Given the description of an element on the screen output the (x, y) to click on. 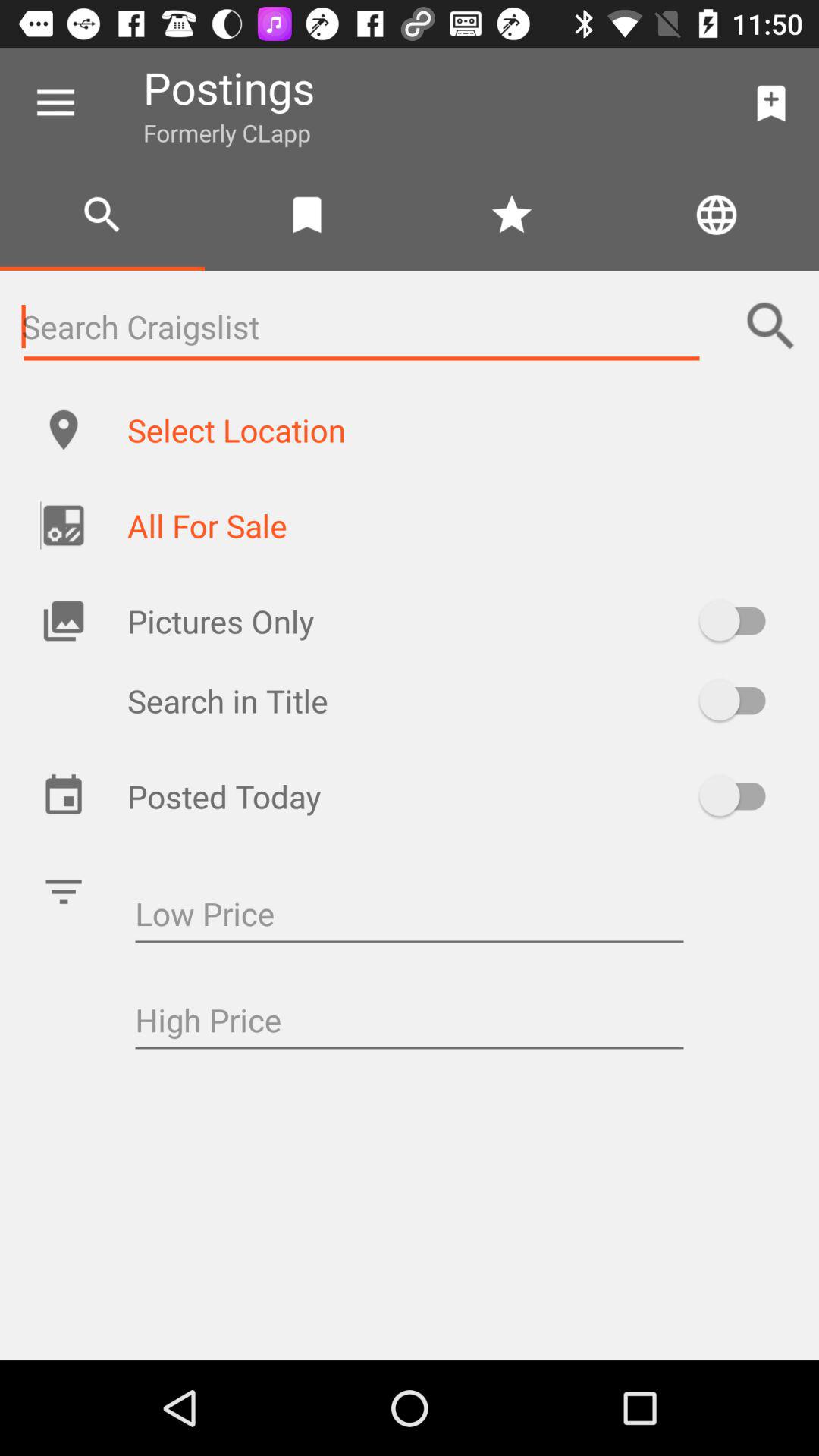
switch search in title options (739, 700)
